Given the description of an element on the screen output the (x, y) to click on. 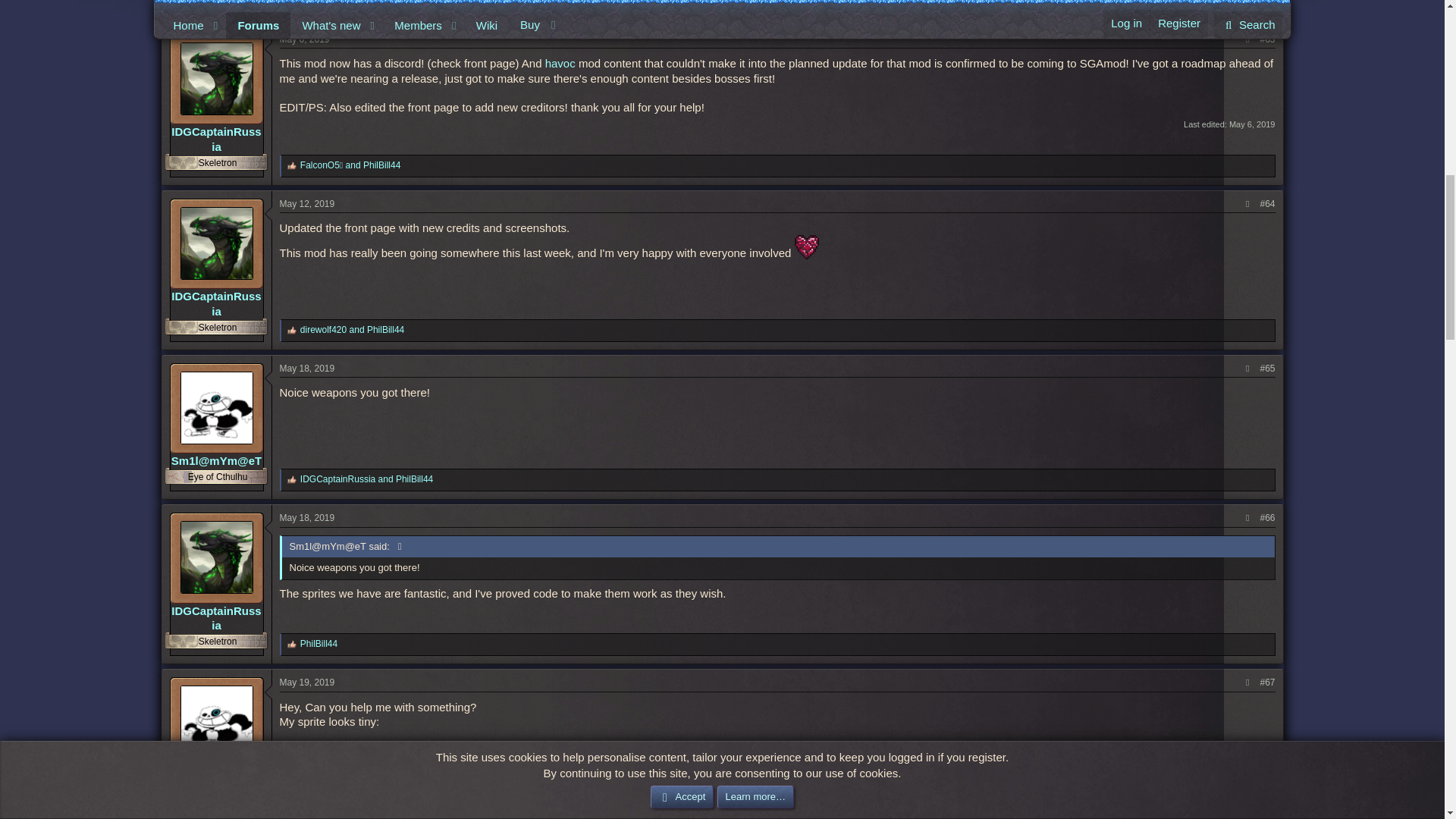
May 6, 2019 at 3:47 AM (304, 39)
Like (291, 165)
May 6, 2019 at 3:55 AM (1251, 123)
May 18, 2019 at 5:08 AM (306, 368)
May 12, 2019 at 3:44 PM (306, 204)
Like (291, 330)
Like (291, 480)
Like (291, 3)
